Given the description of an element on the screen output the (x, y) to click on. 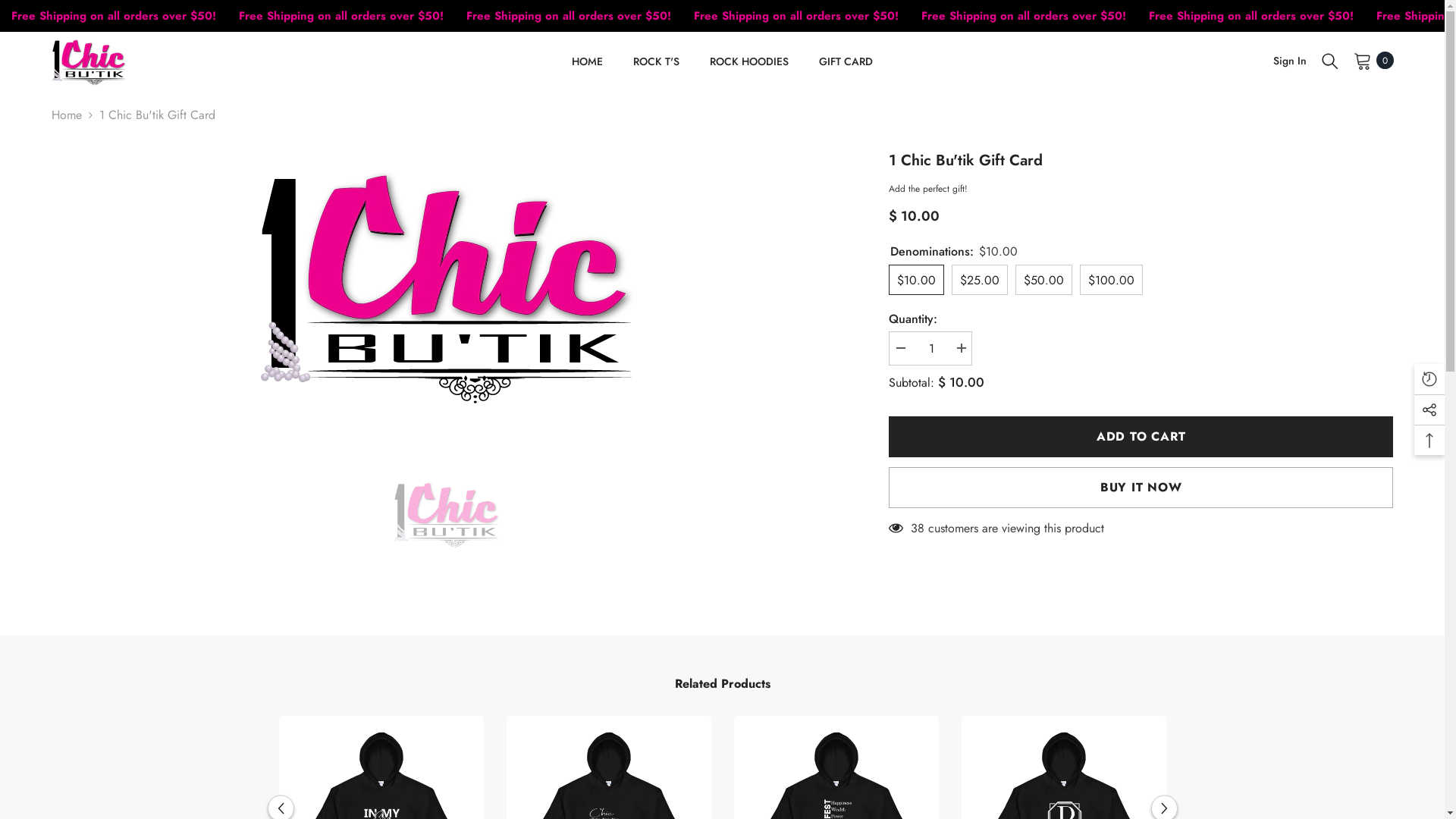
ROCK HOODIES Element type: text (748, 71)
ADD TO CART Element type: text (1140, 436)
1 Chic Bu'tik Gift Card Element type: hover (446, 513)
Home Element type: text (66, 115)
Decrease quantity for 1 Chic Bu&#39;tik Gift Card Element type: text (899, 348)
GIFT CARD Element type: text (845, 71)
Cart
0
0 items Element type: text (1372, 60)
Sign In Element type: text (1288, 59)
BUY IT NOW Element type: text (1140, 487)
HOME Element type: text (587, 71)
Increase quantity for 1 Chic Bu&#39;tik Gift Card Element type: text (960, 348)
ROCK T'S Element type: text (656, 71)
